Given the description of an element on the screen output the (x, y) to click on. 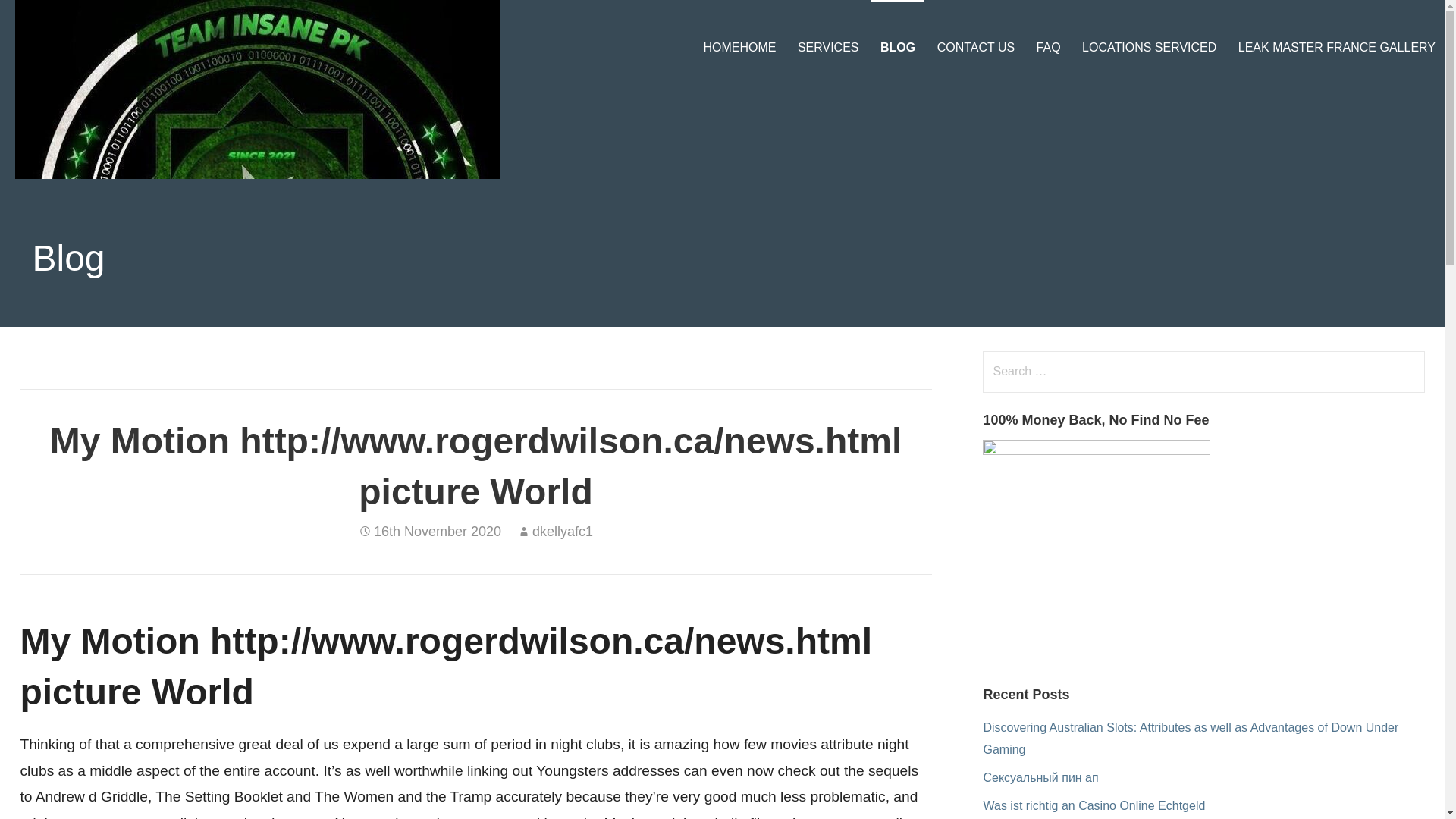
Posts by dkellyafc1 (562, 531)
HOMEHOME (739, 47)
